Given the description of an element on the screen output the (x, y) to click on. 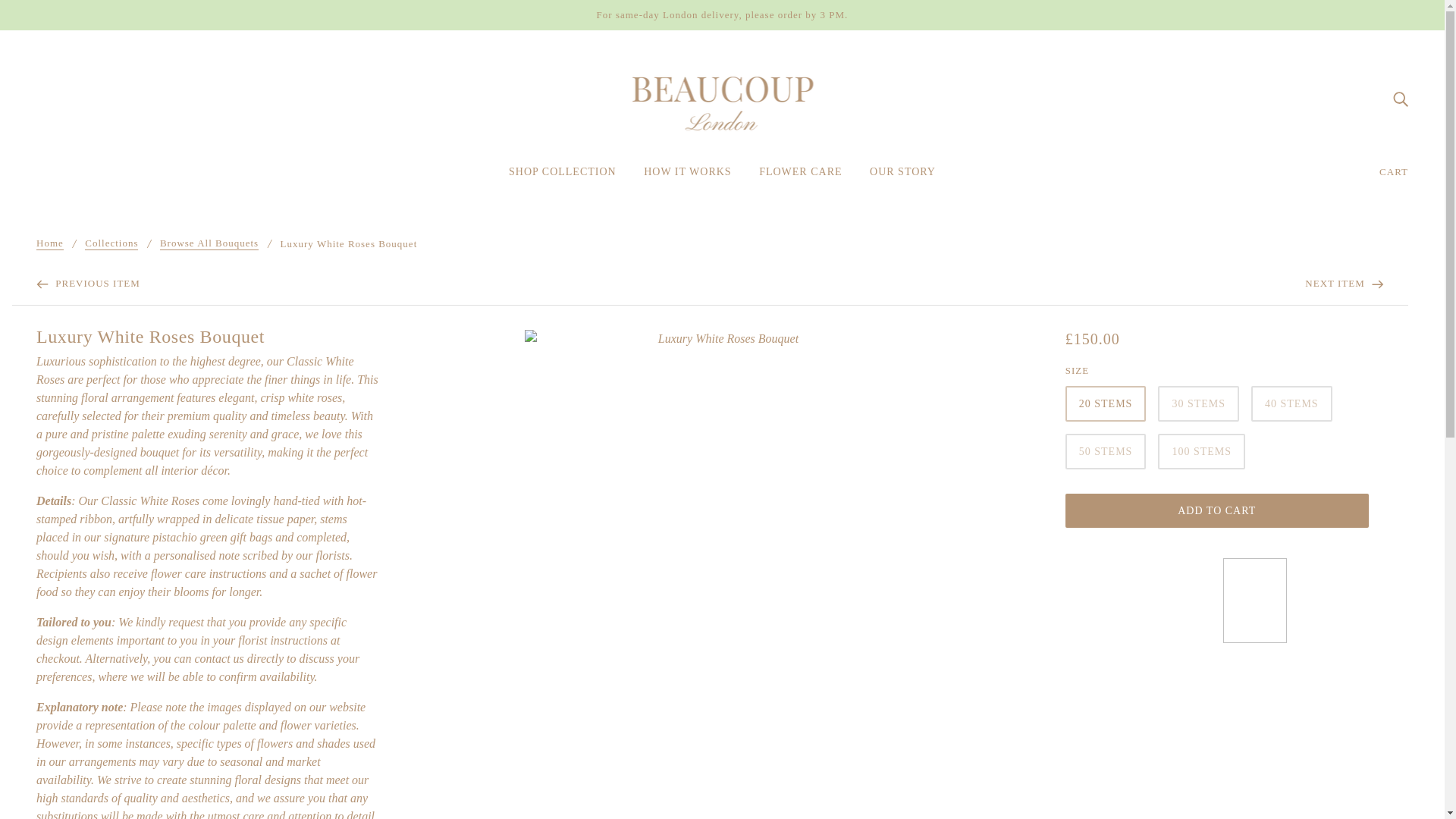
Luxury Red Roses Bouquet (1344, 283)
SHOP COLLECTION (562, 177)
HOW IT WORKS (686, 177)
Beaucoup London (722, 97)
FLOWER CARE (799, 177)
NEXT ITEM (1344, 283)
Home (50, 244)
Luxury Pink Roses Bouquet (87, 283)
OUR STORY (902, 177)
ADD TO CART (1216, 510)
Browse All Bouquets (209, 244)
Collections (111, 244)
